Given the description of an element on the screen output the (x, y) to click on. 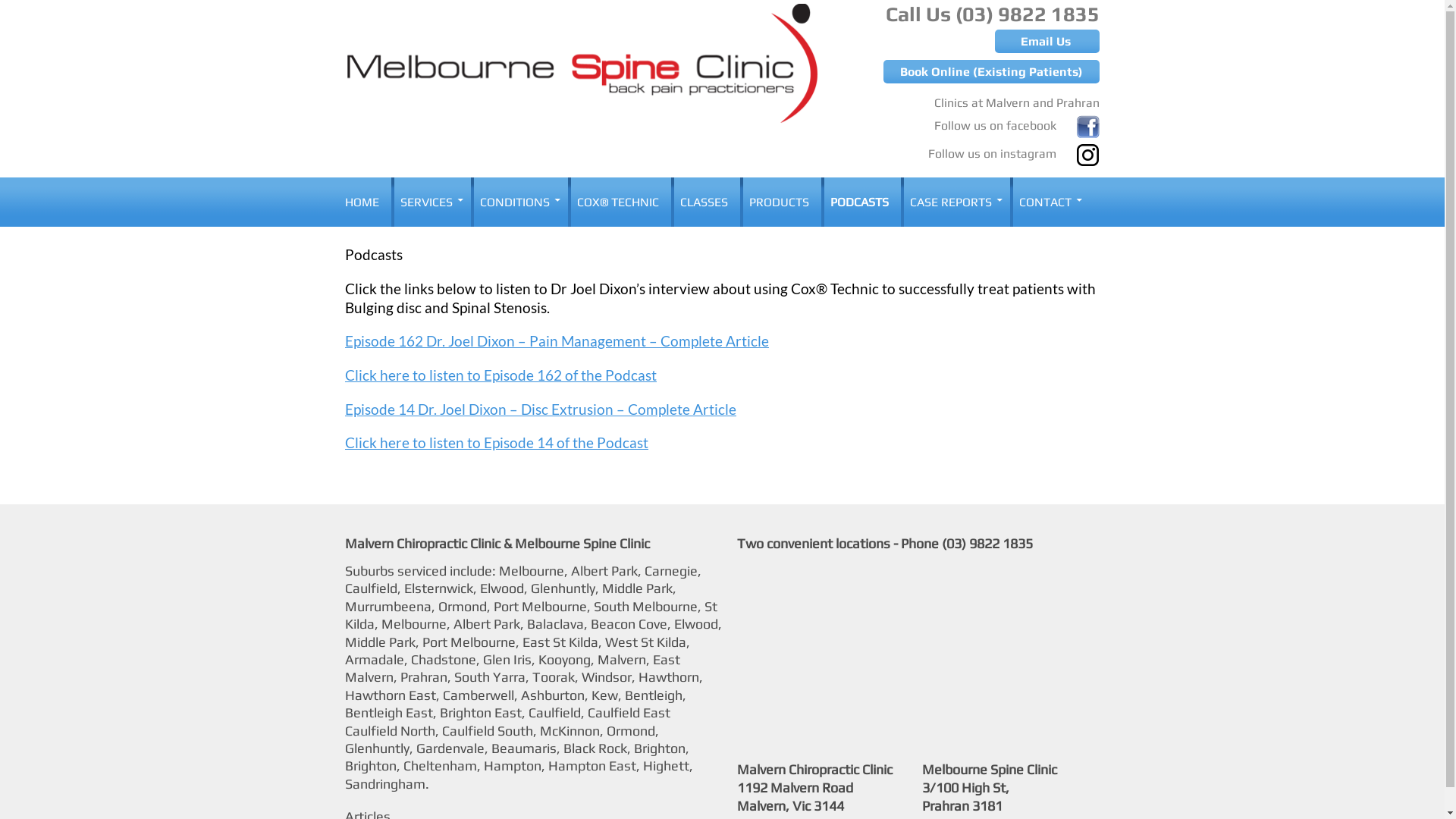
Click here to listen to Episode 14 of the Podcast Element type: text (496, 442)
PODCASTS Element type: text (859, 201)
CLASSES Element type: text (704, 201)
(03) 9822 1835 Element type: text (986, 543)
   Email Us     Element type: text (1046, 41)
CONTACT Element type: text (1048, 201)
Melbourne Spine Clinic Element type: text (420, 195)
SERVICES Element type: text (429, 201)
Follow us on instagram Element type: text (1013, 150)
Click here to listen to Episode 162 of the Podcast Element type: text (500, 374)
CASE REPORTS Element type: text (953, 201)
PRODUCTS Element type: text (779, 201)
(03) 9822 1835 Element type: text (1027, 13)
HOME Element type: text (366, 201)
Book Online (Existing Patients) Element type: text (991, 71)
CONDITIONS Element type: text (517, 201)
Follow us on facebook Element type: text (1016, 122)
SKIP TO CONTENT Element type: text (403, 186)
